Given the description of an element on the screen output the (x, y) to click on. 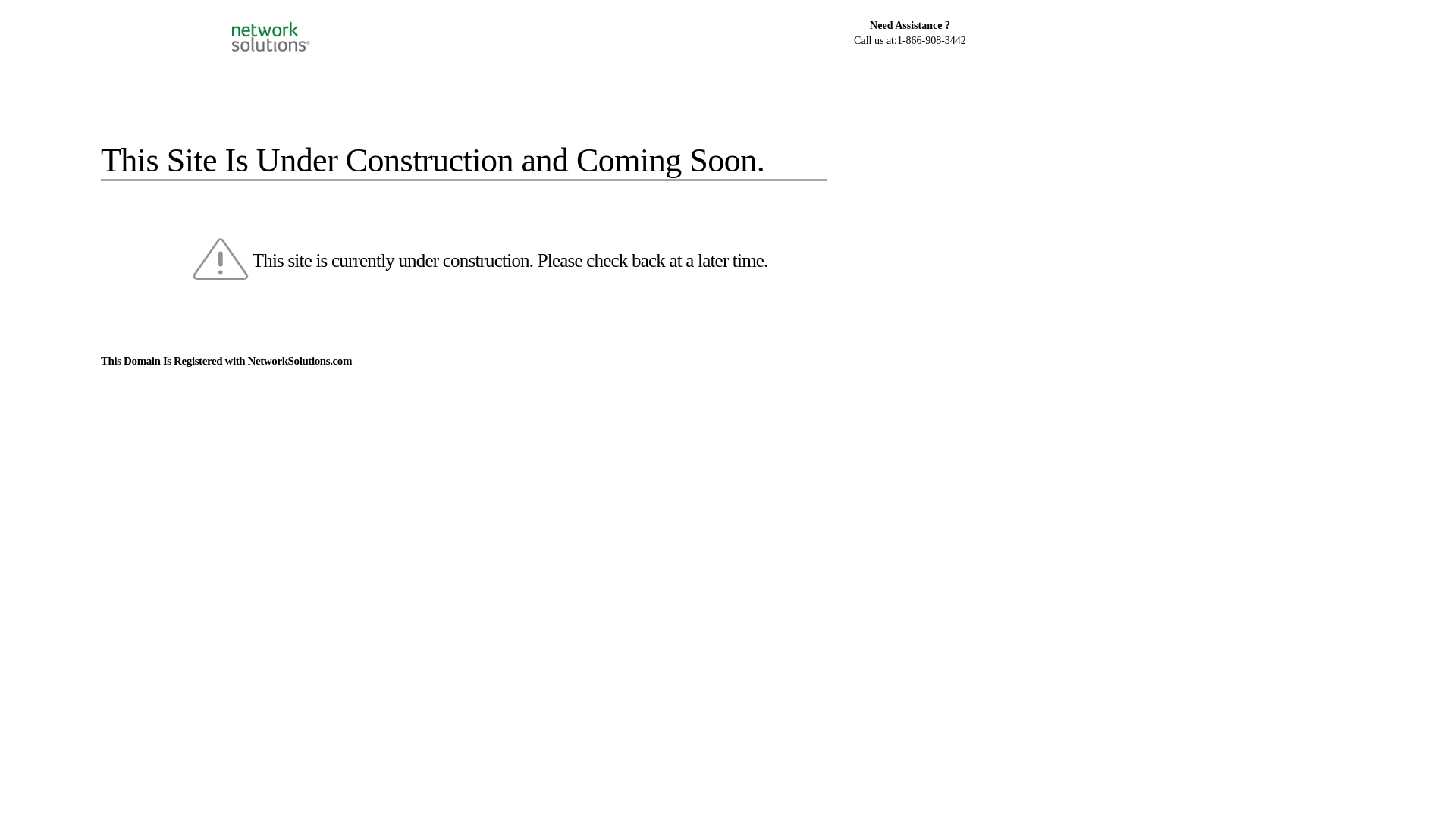
NetworkSolutions.com Home Element type: hover (289, 23)
